Given the description of an element on the screen output the (x, y) to click on. 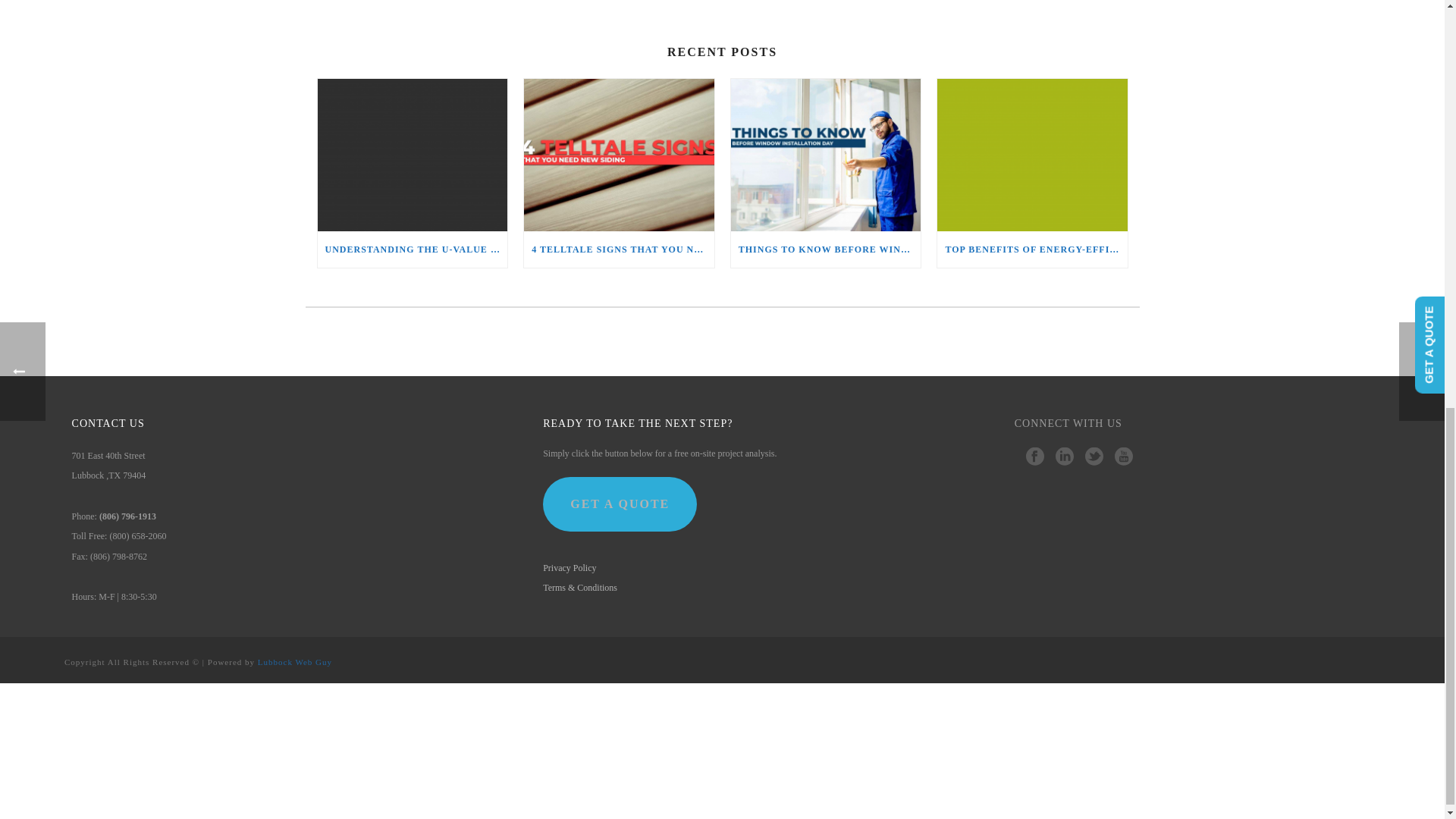
GET A QUOTE (620, 503)
Lubbock Web Guy (294, 661)
Understanding the U-Value of a Window Assembly (411, 154)
GET A QUOTE (620, 503)
CONNECT WITH US (1068, 429)
Follow Us on youtube (1123, 456)
Top Benefits of Energy-Efficient Replacement Windows (1031, 154)
Follow Us on facebook (1034, 456)
Things to Know Before Window Installation Day (825, 154)
Follow Us on linkedin (1064, 456)
4 TELLTALE SIGNS THAT YOU NEED NEW SIDING (619, 248)
Privacy Policy (569, 567)
Follow Us on twitter (1093, 456)
THINGS TO KNOW BEFORE WINDOW INSTALLATION DAY (825, 248)
UNDERSTANDING THE U-VALUE OF A WINDOW ASSEMBLY (411, 248)
